Given the description of an element on the screen output the (x, y) to click on. 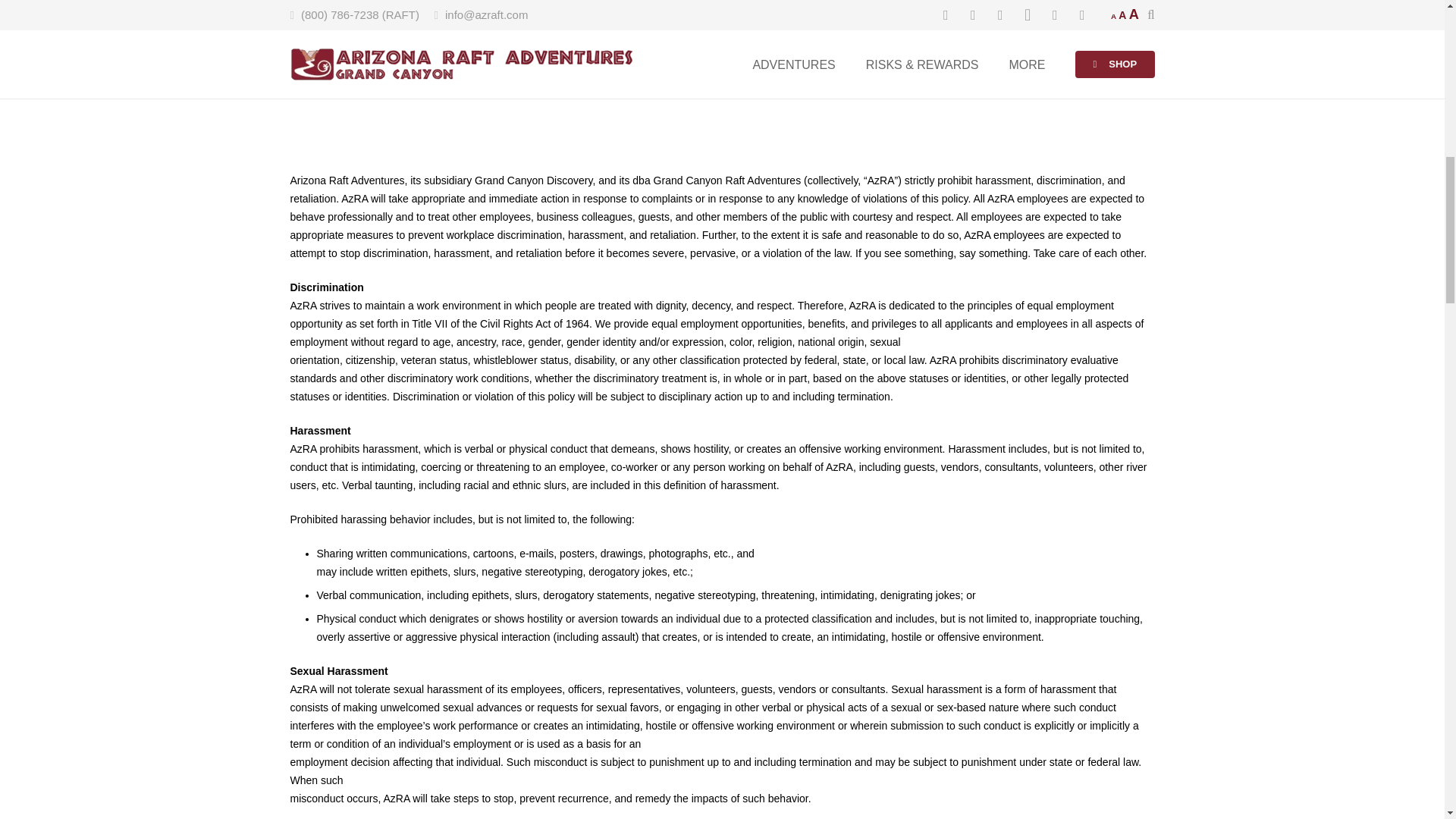
Back to top (1413, 22)
